Given the description of an element on the screen output the (x, y) to click on. 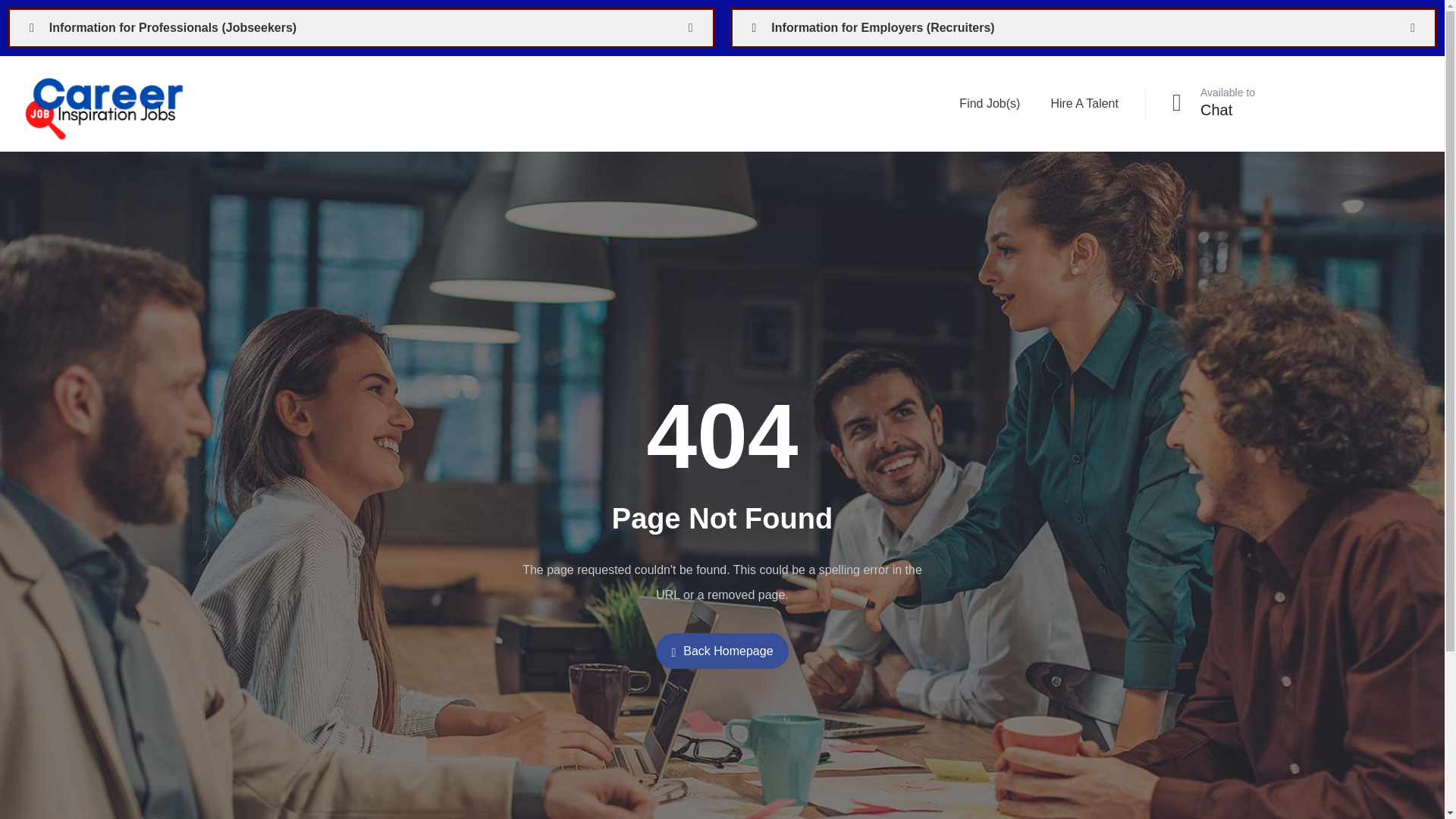
Back Homepage (721, 651)
Home (106, 103)
Chat (1215, 109)
Hire A Talent (1084, 103)
